Given the description of an element on the screen output the (x, y) to click on. 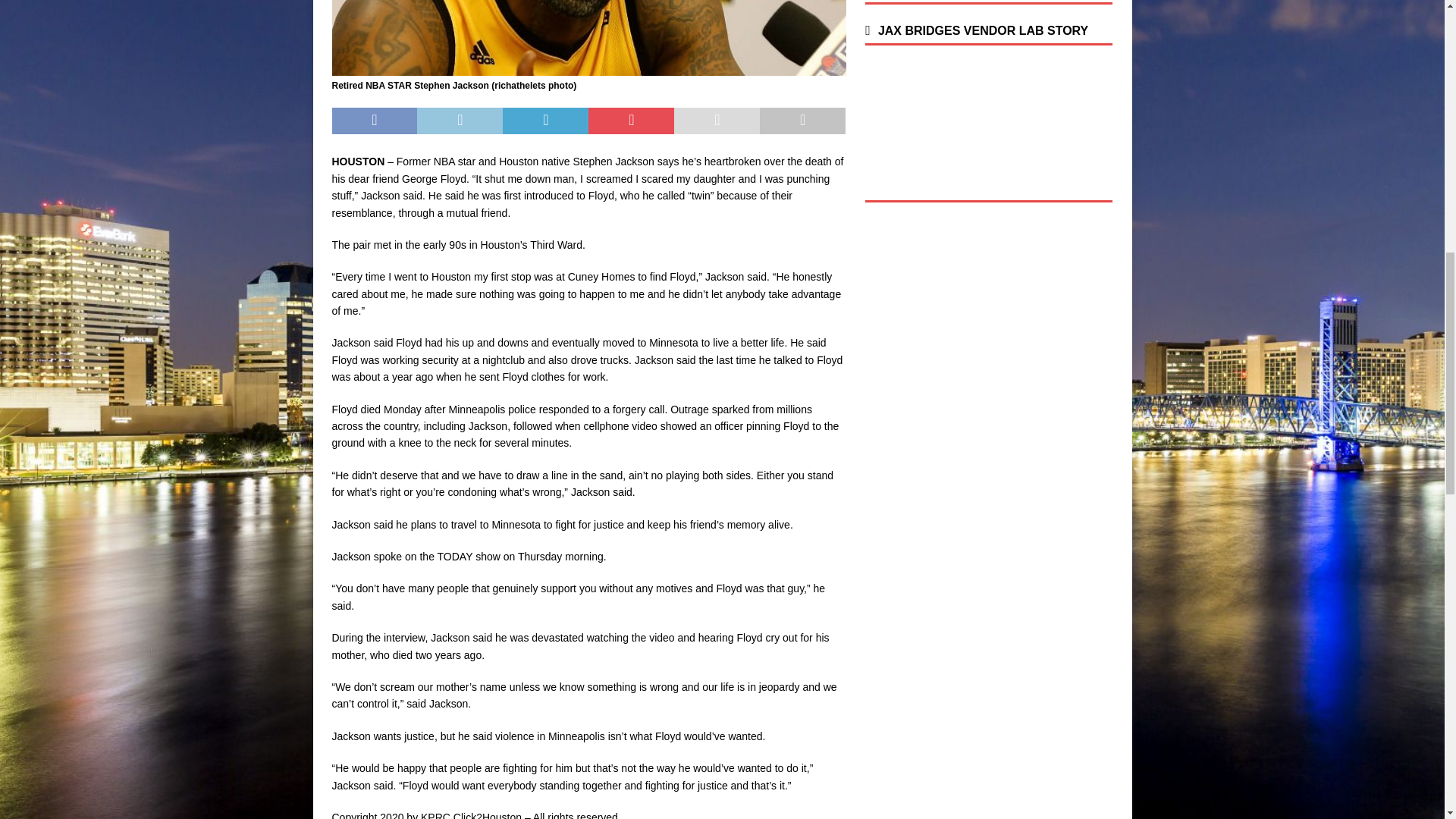
stephen-jackson (588, 38)
